Given the description of an element on the screen output the (x, y) to click on. 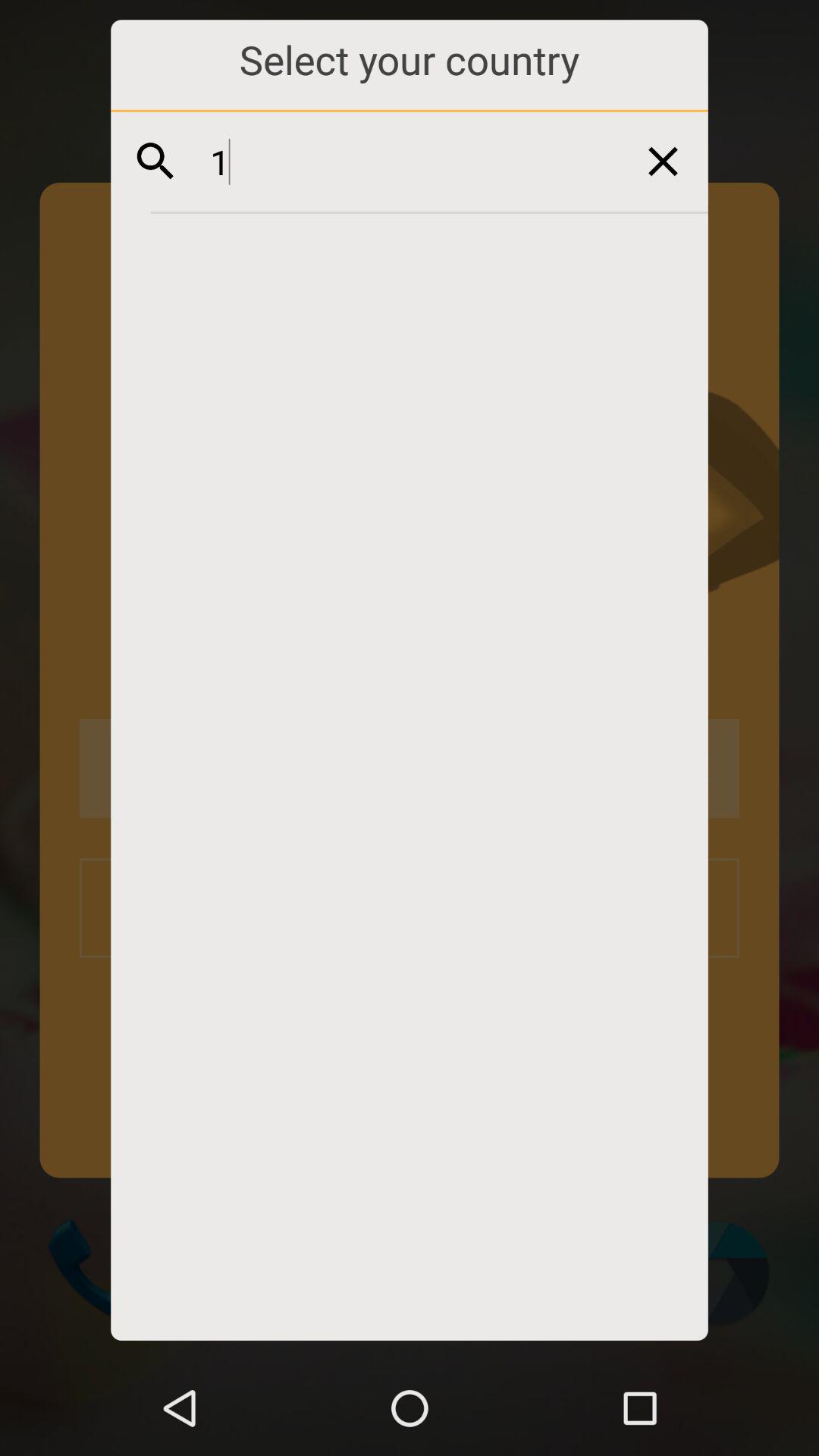
clear input (663, 161)
